Given the description of an element on the screen output the (x, y) to click on. 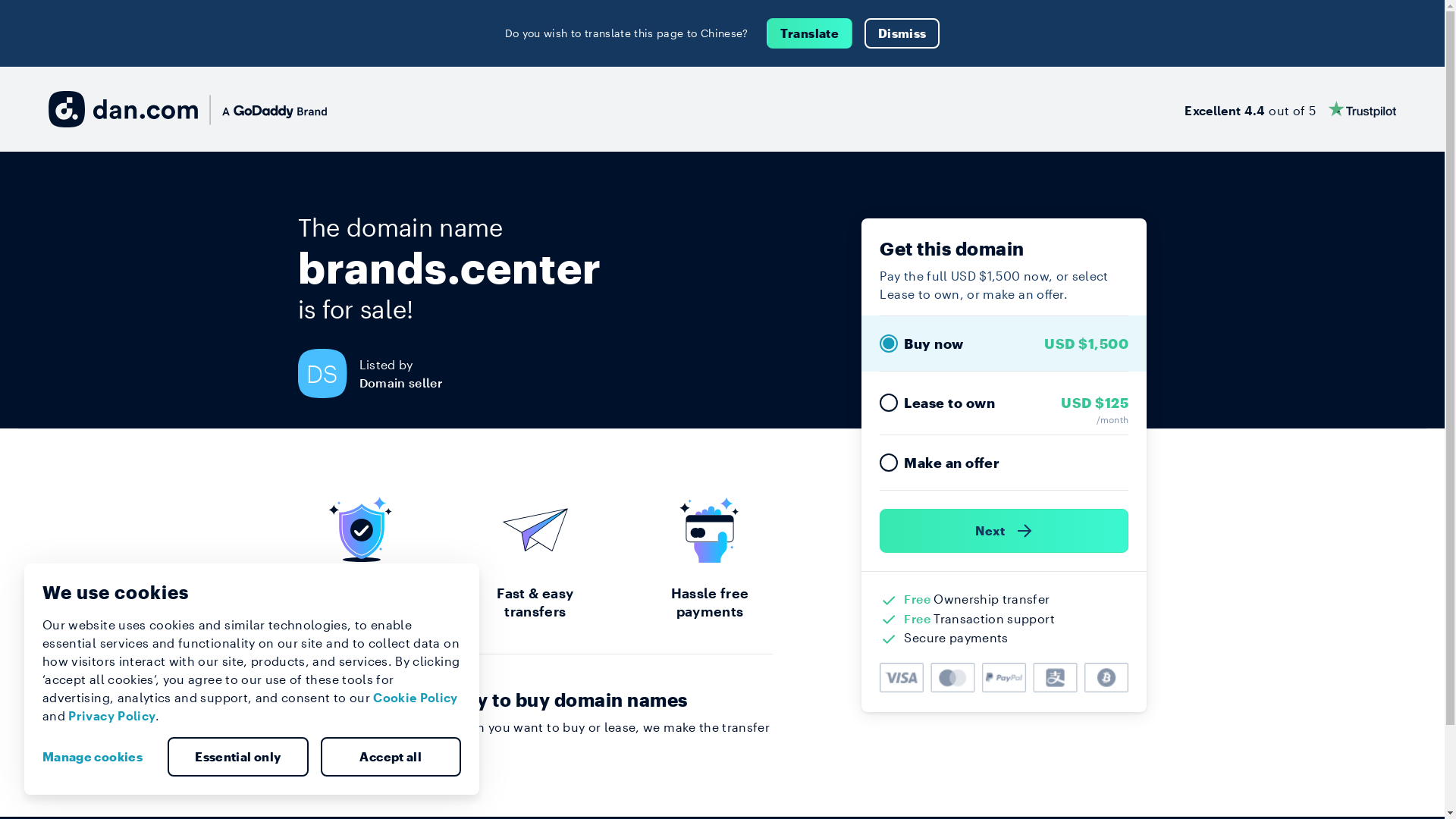
Accept all Element type: text (390, 756)
Cookie Policy Element type: text (415, 697)
Next
) Element type: text (1003, 530)
Dismiss Element type: text (901, 33)
Translate Element type: text (809, 33)
Manage cookies Element type: text (98, 756)
Essential only Element type: text (237, 756)
Excellent 4.4 out of 5 Element type: text (1290, 109)
Privacy Policy Element type: text (111, 715)
